Given the description of an element on the screen output the (x, y) to click on. 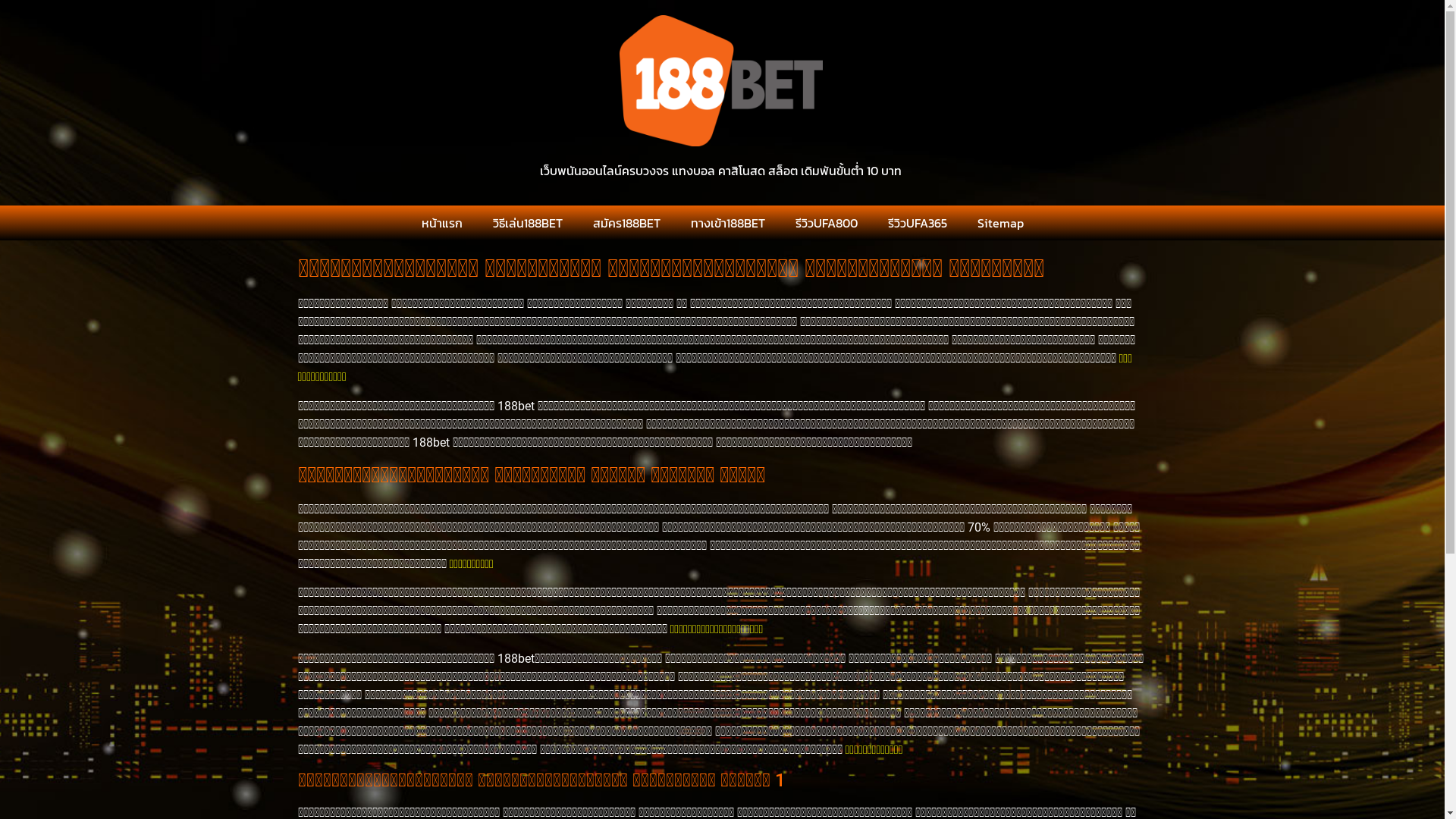
Sitemap Element type: text (999, 222)
